Given the description of an element on the screen output the (x, y) to click on. 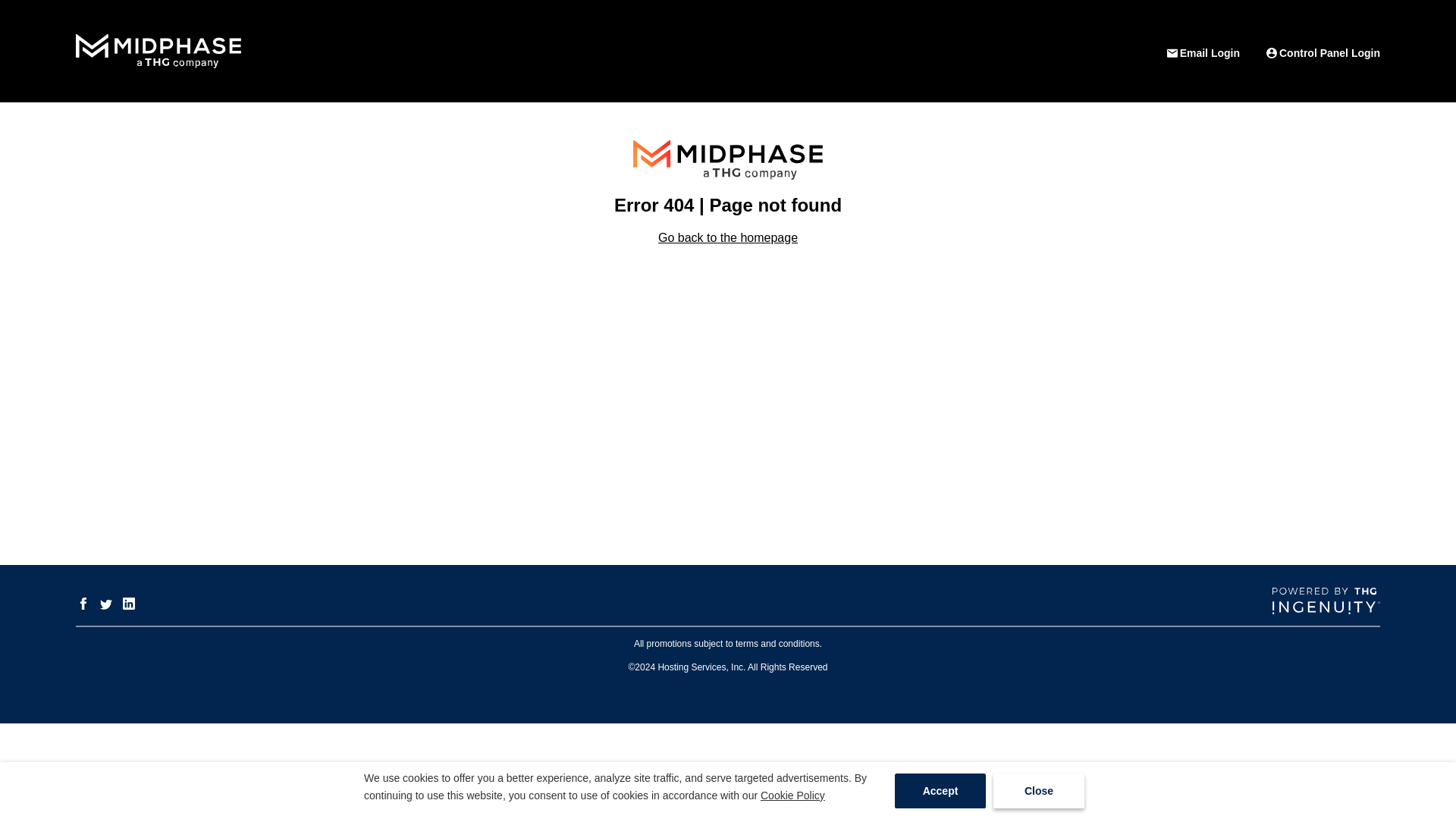
Control Panel Login (1321, 53)
Email Login (1202, 53)
Go back to the homepage (727, 237)
